Given the description of an element on the screen output the (x, y) to click on. 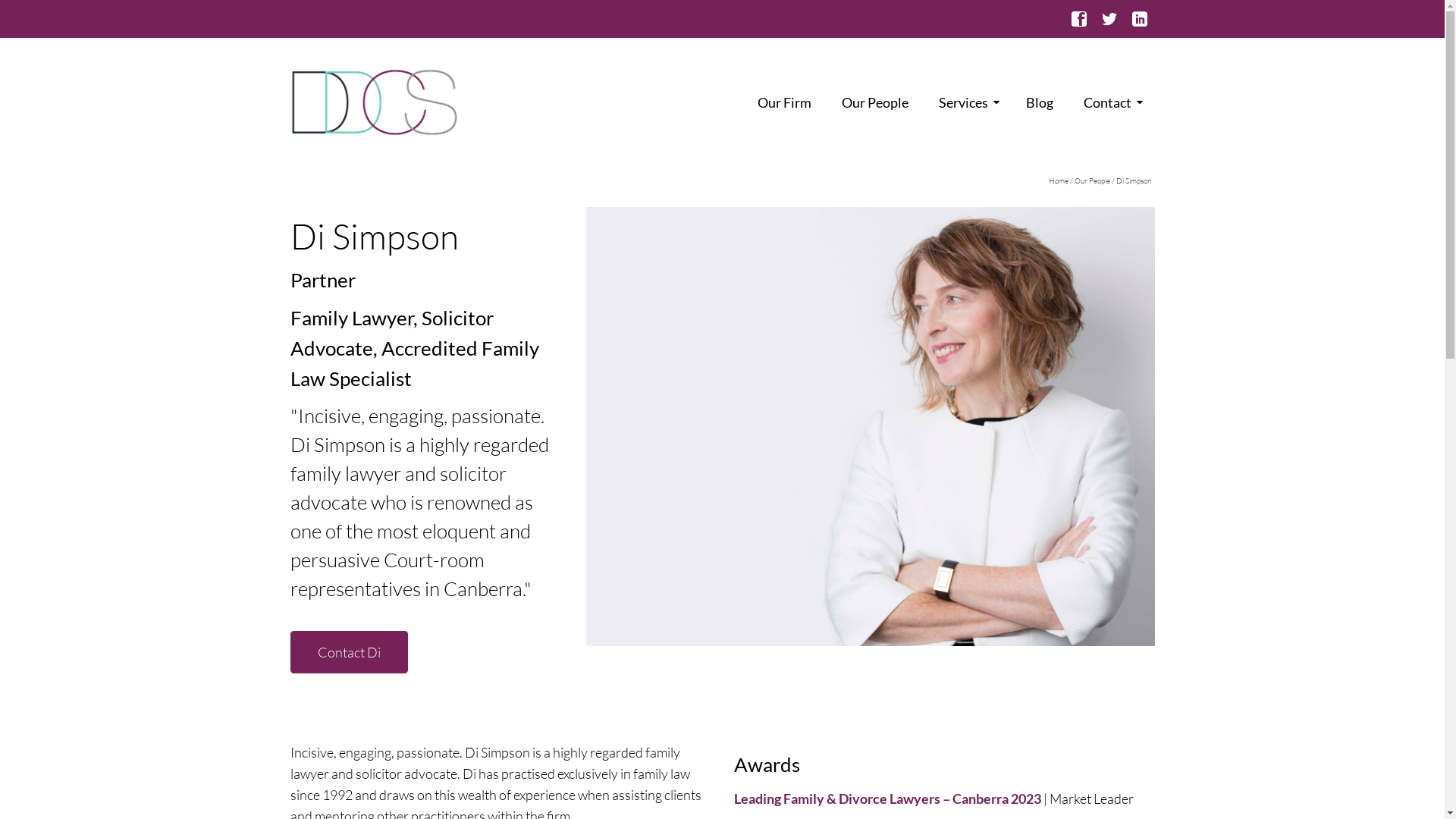
DDCS_C_Ireland_021 ed Element type: hover (869, 426)
Our People Element type: text (874, 101)
Services Element type: text (966, 101)
Home Element type: text (1057, 180)
Our People Element type: text (1091, 180)
Contact Di Element type: text (348, 651)
Our Firm Element type: text (784, 101)
Blog Element type: text (1039, 101)
Contact Element type: text (1111, 101)
